Given the description of an element on the screen output the (x, y) to click on. 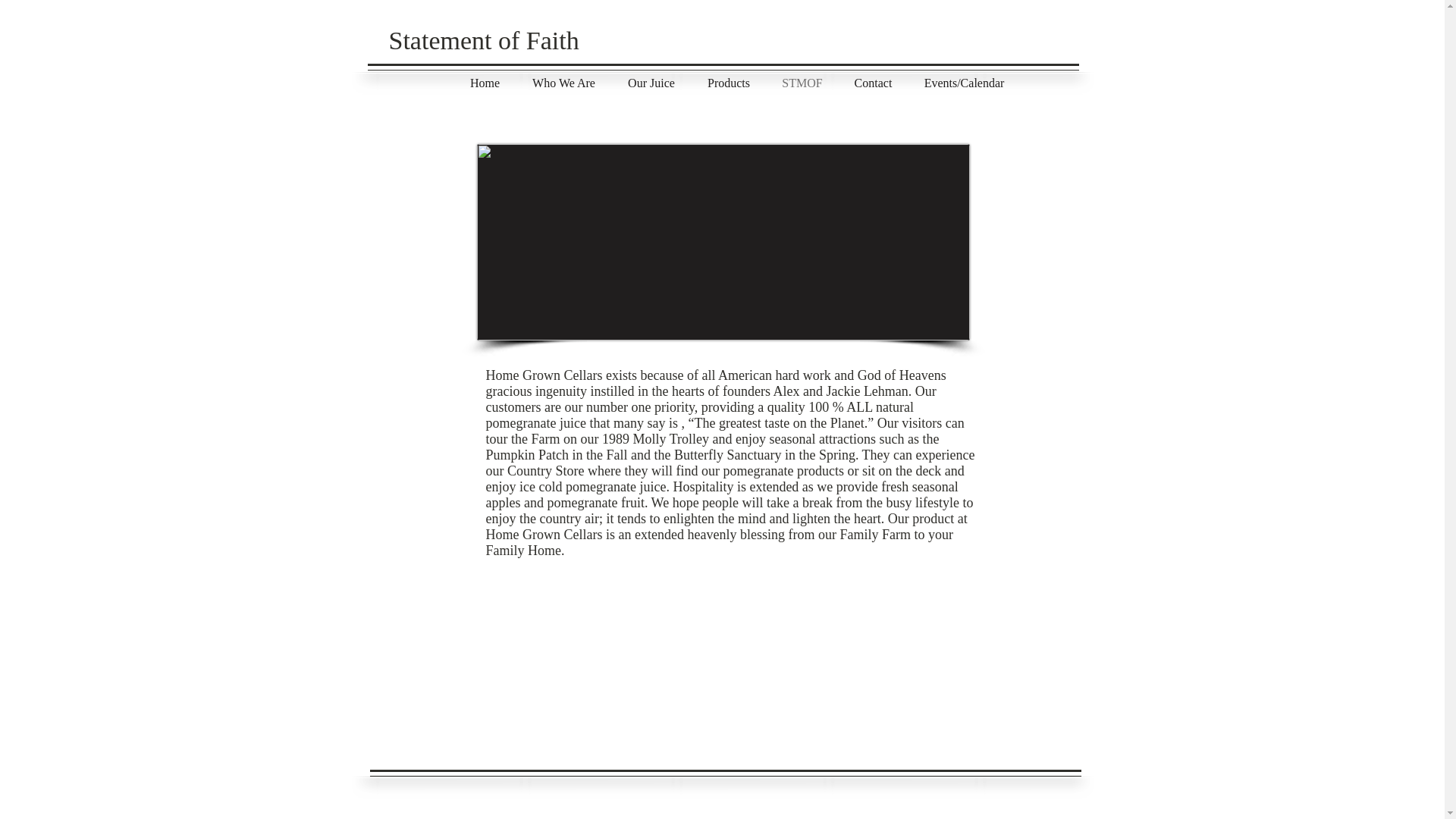
Screen Shot 2014-10-15 at 4.54.50 PM.png (722, 242)
STMOF (801, 83)
Our Juice (650, 83)
Who We Are (563, 83)
Home (483, 83)
Contact (873, 83)
Products (729, 83)
